Given the description of an element on the screen output the (x, y) to click on. 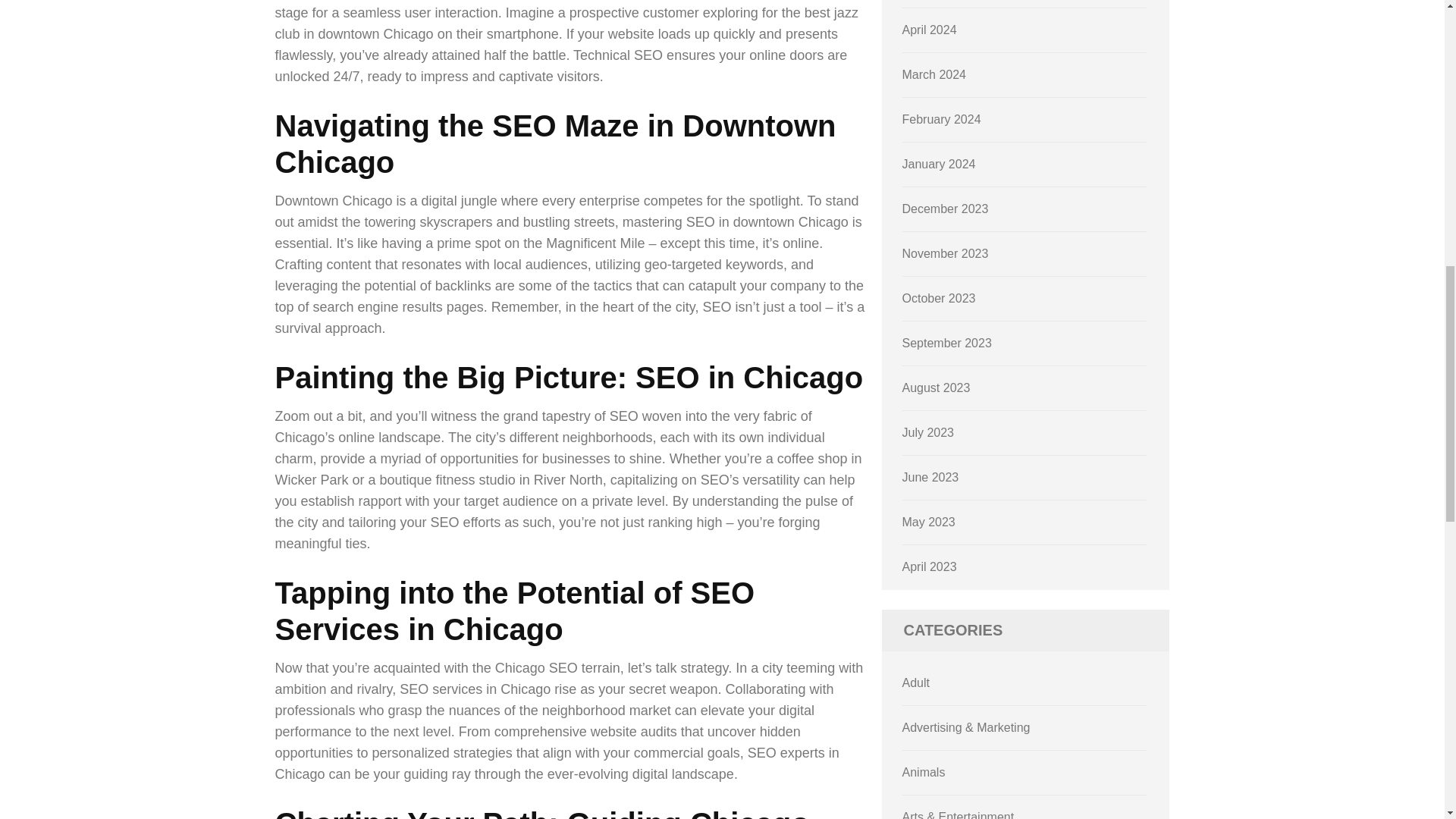
July 2023 (928, 431)
April 2023 (929, 566)
February 2024 (941, 119)
August 2023 (936, 387)
January 2024 (938, 164)
April 2024 (929, 29)
March 2024 (934, 74)
December 2023 (945, 208)
October 2023 (938, 297)
September 2023 (946, 342)
